Given the description of an element on the screen output the (x, y) to click on. 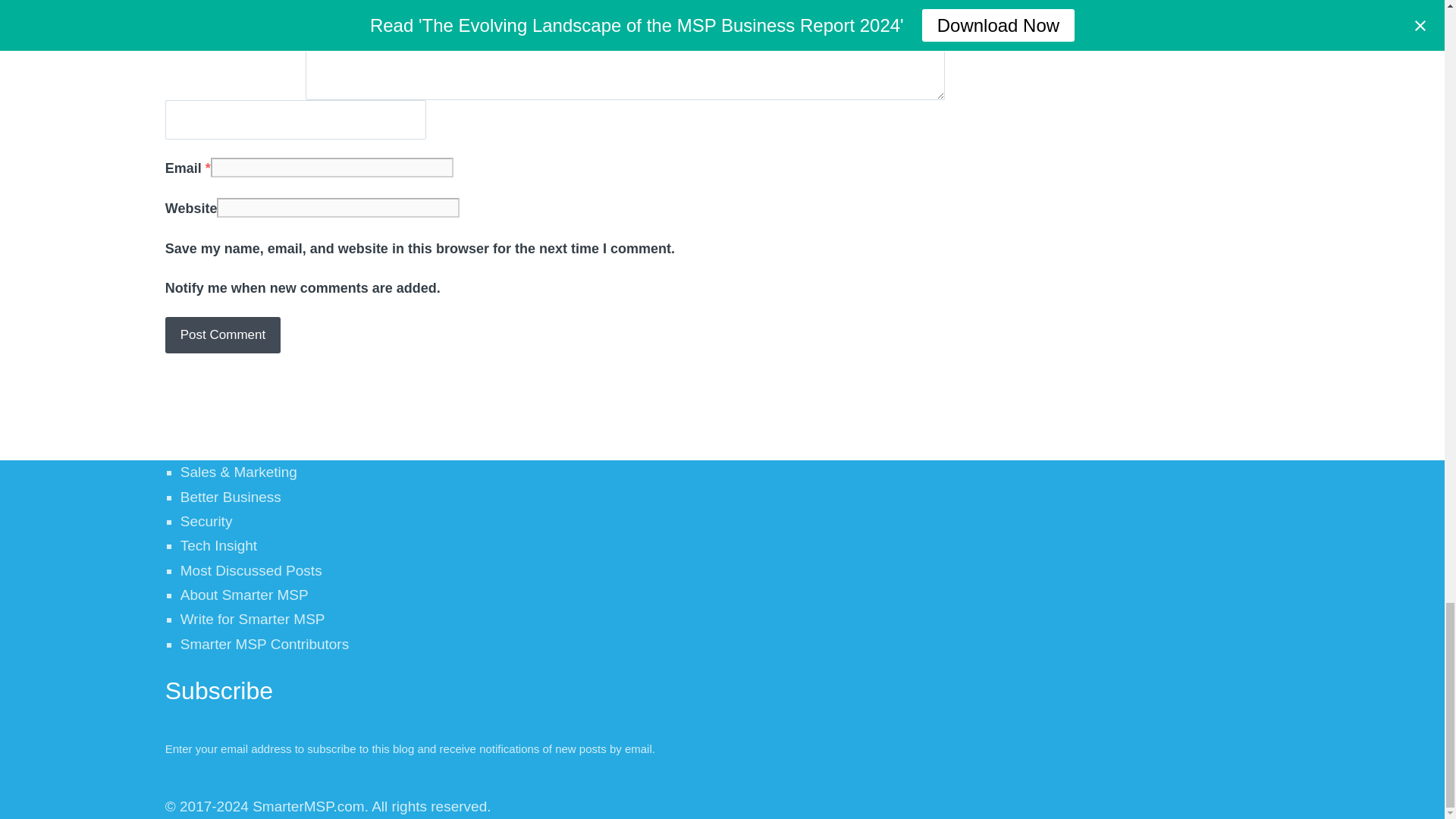
Post Comment (223, 334)
